Given the description of an element on the screen output the (x, y) to click on. 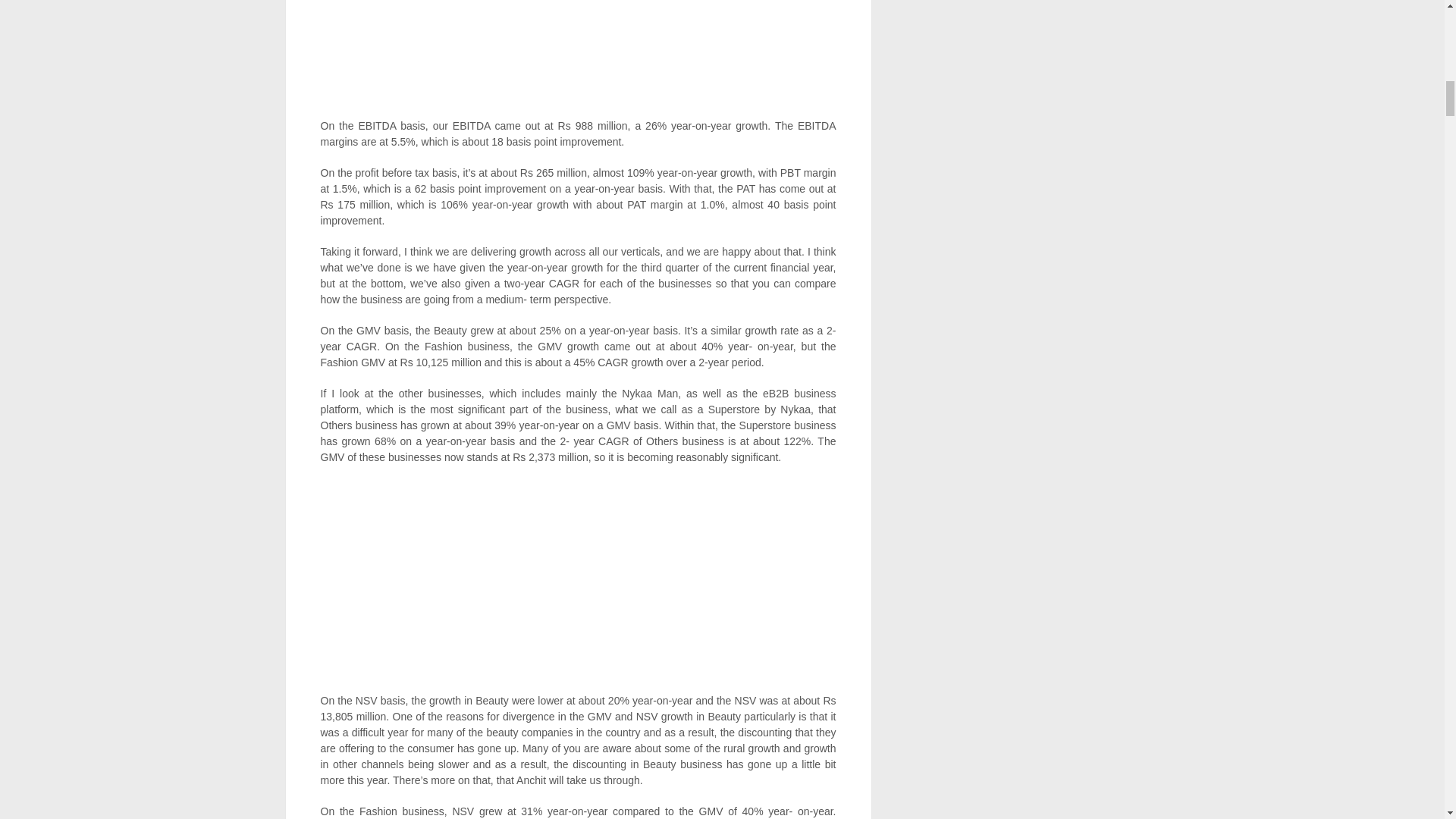
Advertisement (577, 58)
Advertisement (577, 586)
